Given the description of an element on the screen output the (x, y) to click on. 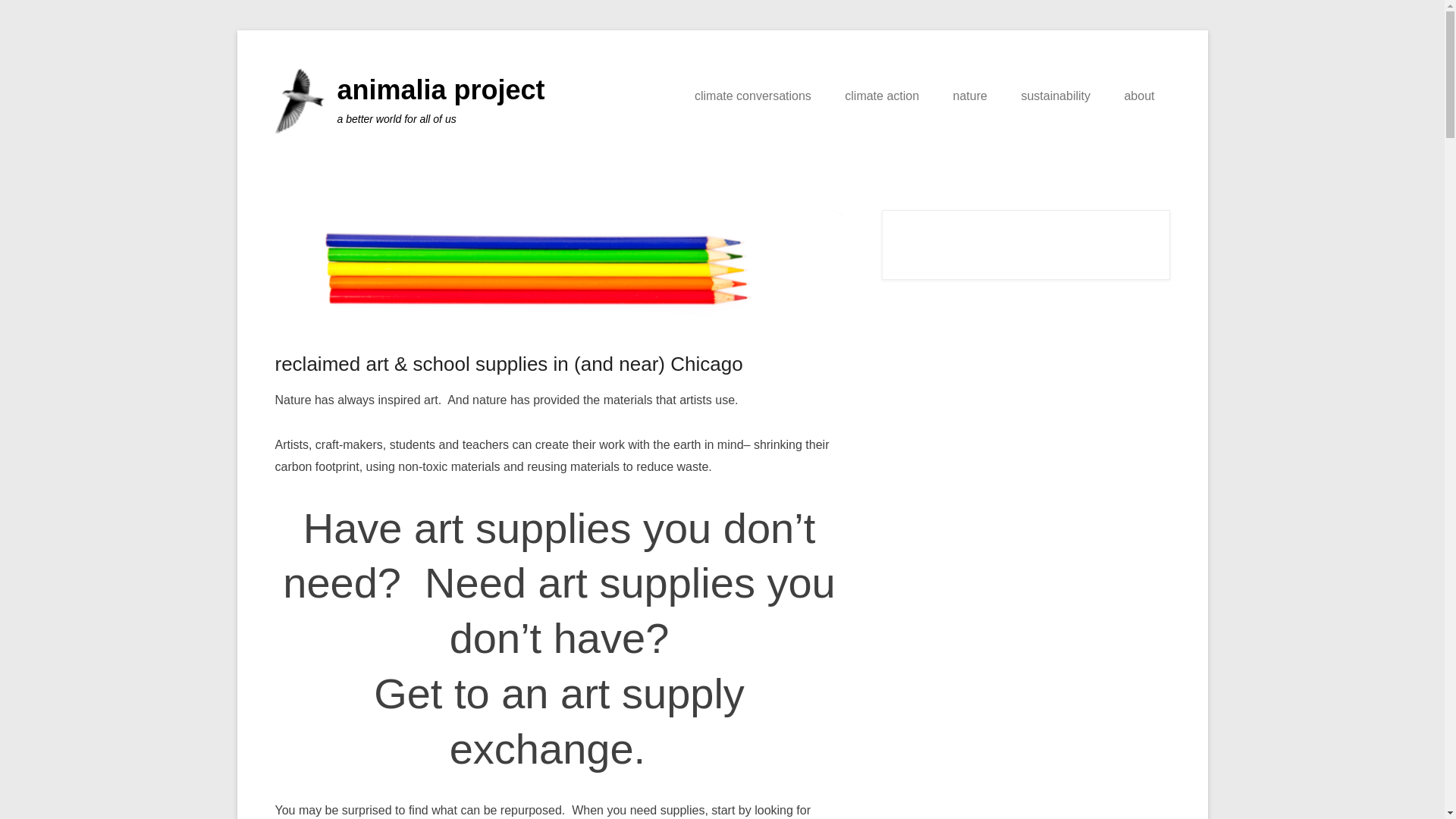
sustainability (1055, 96)
climate conversations (753, 96)
animalia project (440, 89)
climate action (881, 96)
about (1138, 96)
nature (970, 96)
animalia project (440, 89)
